Given the description of an element on the screen output the (x, y) to click on. 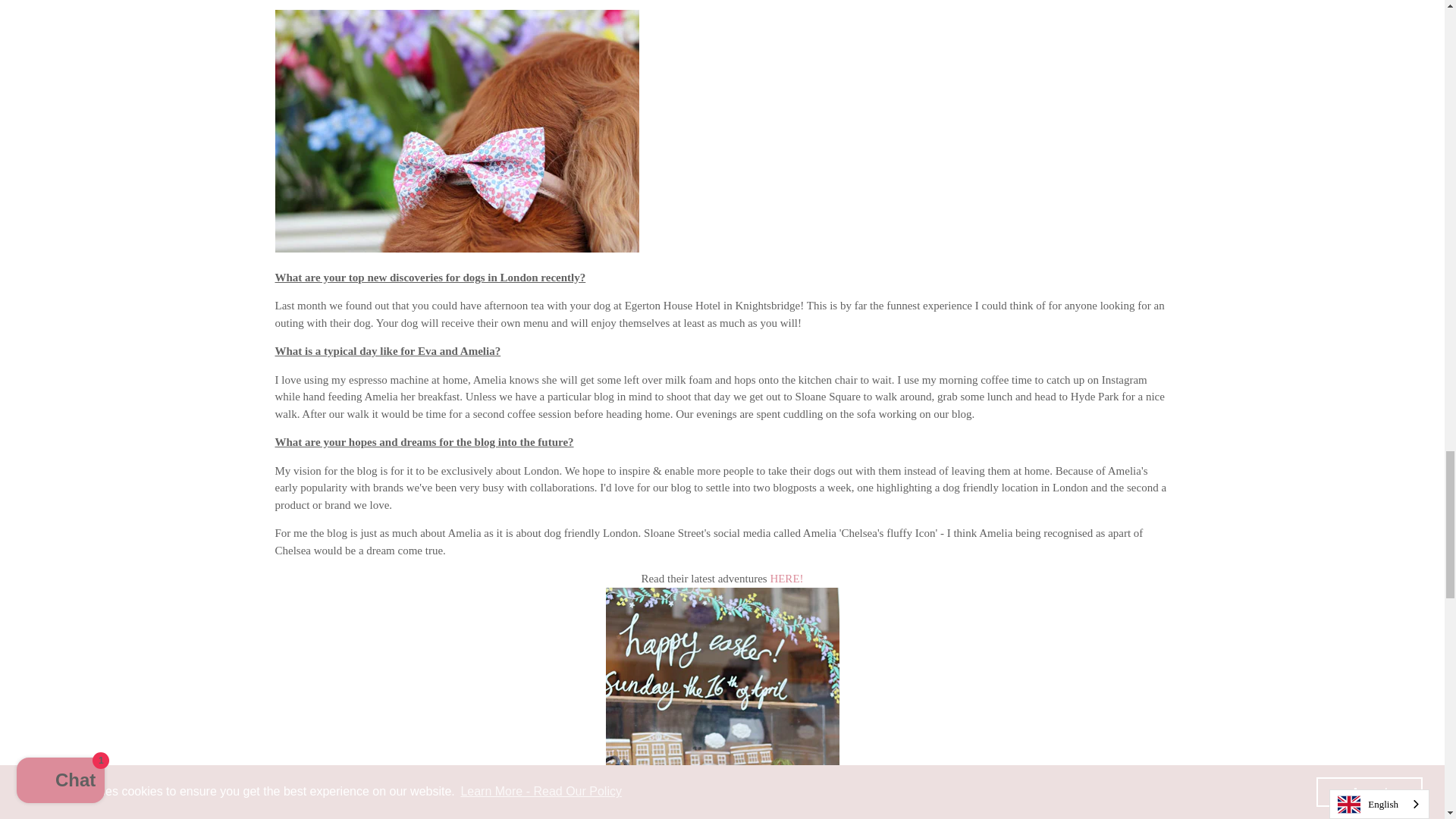
eva and amelia (786, 578)
